Given the description of an element on the screen output the (x, y) to click on. 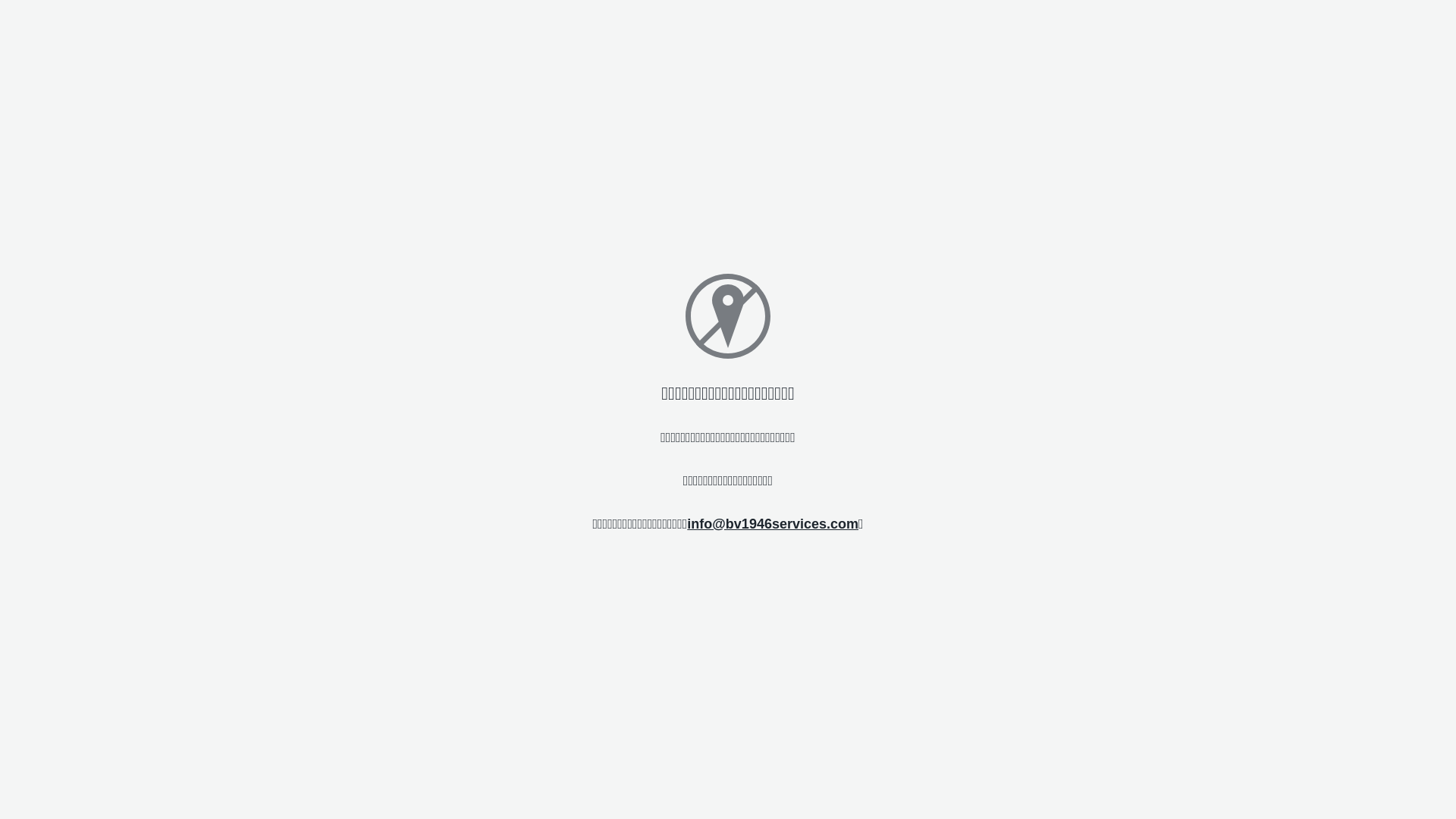
info@bv1946services.com Element type: text (772, 522)
